Given the description of an element on the screen output the (x, y) to click on. 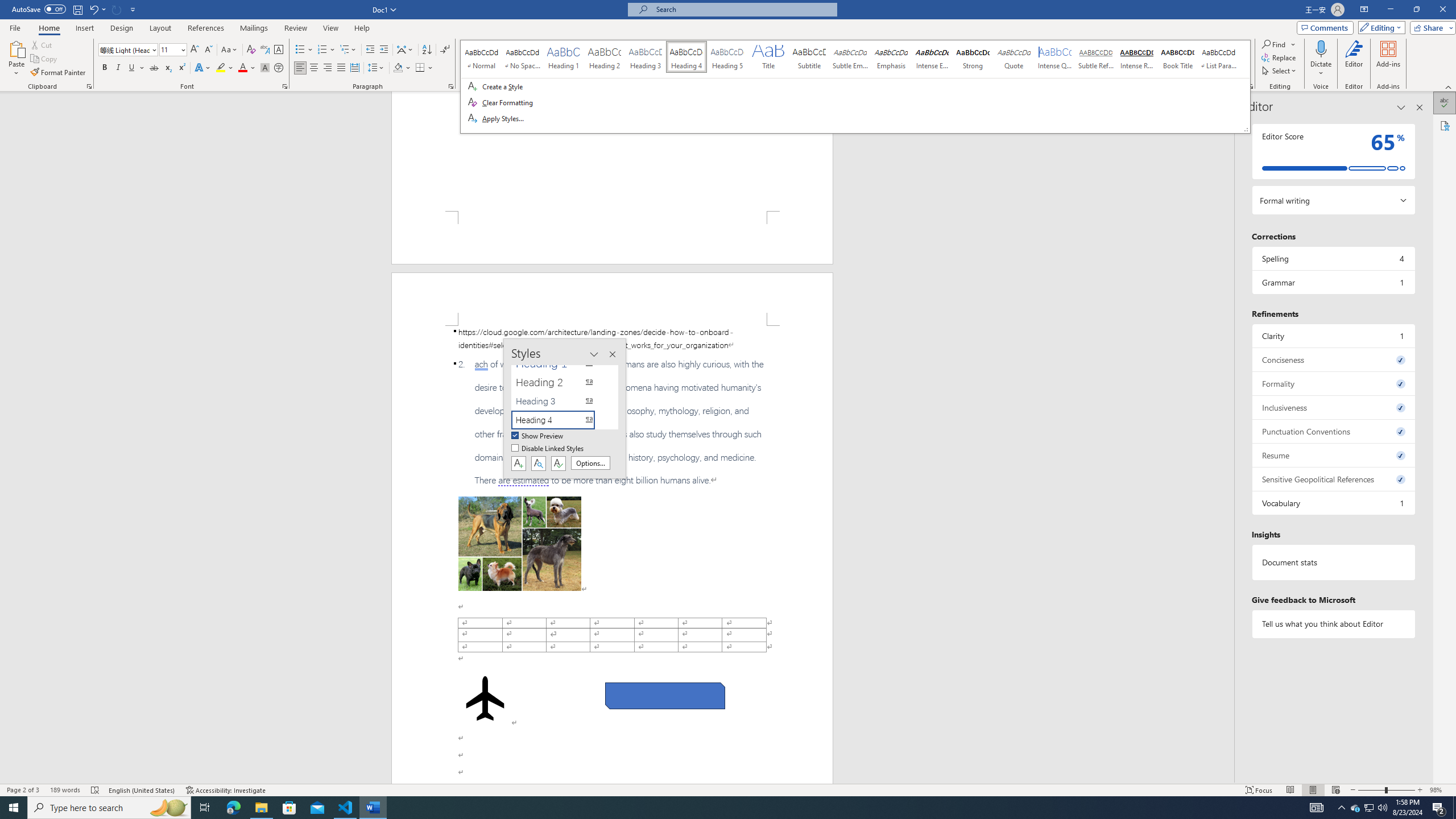
Formality, 0 issues. Press space or enter to review items. (1333, 383)
Word - 1 running window (373, 807)
Spelling and Grammar Check Errors (94, 790)
Class: Net UI Tool Window (855, 86)
